Given the description of an element on the screen output the (x, y) to click on. 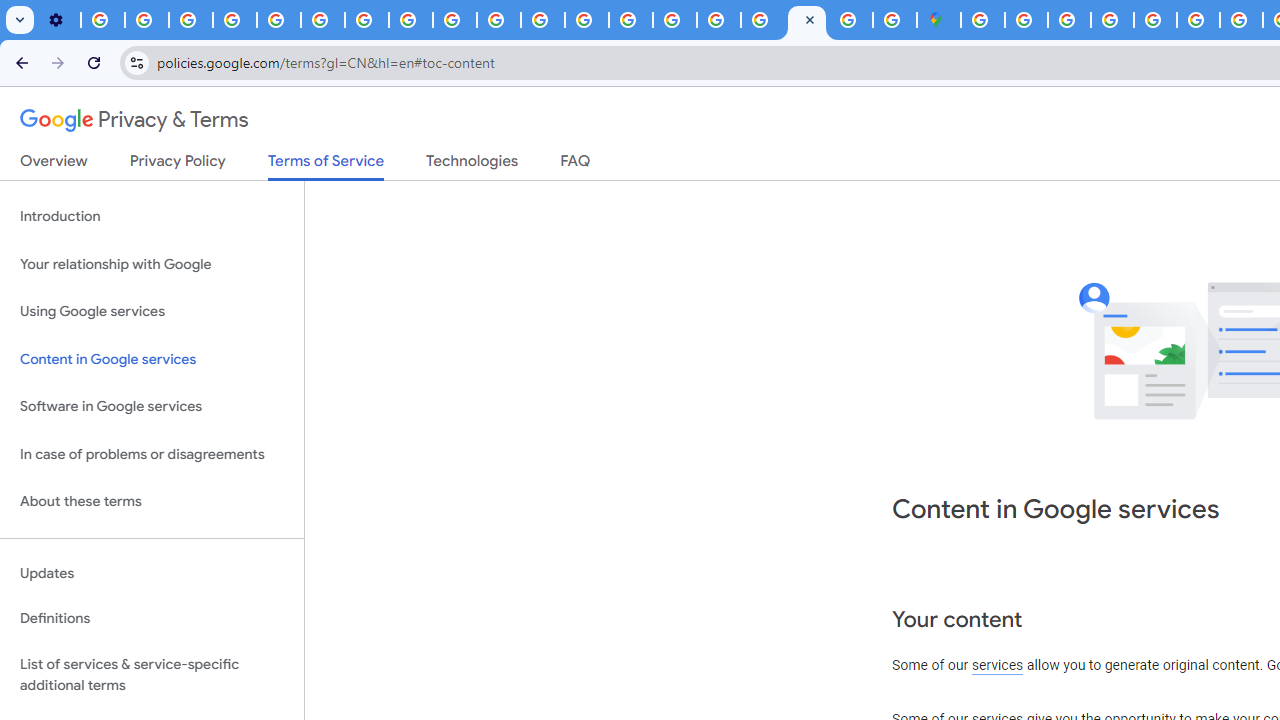
Privacy Help Center - Policies Help (1197, 20)
About these terms (152, 502)
Your relationship with Google (152, 263)
Privacy Help Center - Policies Help (278, 20)
Terms and Conditions (1155, 20)
https://scholar.google.com/ (542, 20)
Google Maps (938, 20)
